Given the description of an element on the screen output the (x, y) to click on. 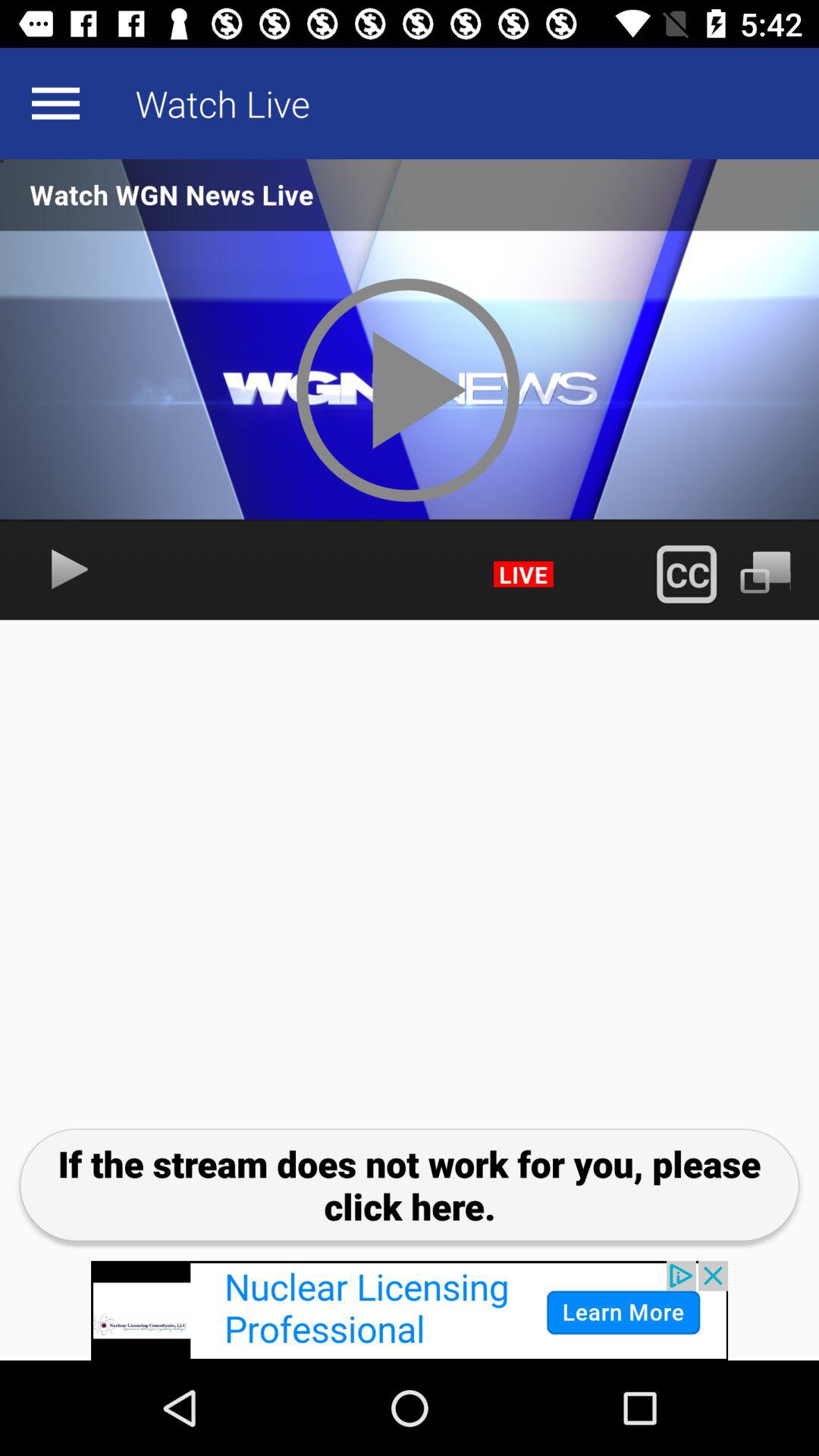
view menu (55, 103)
